Given the description of an element on the screen output the (x, y) to click on. 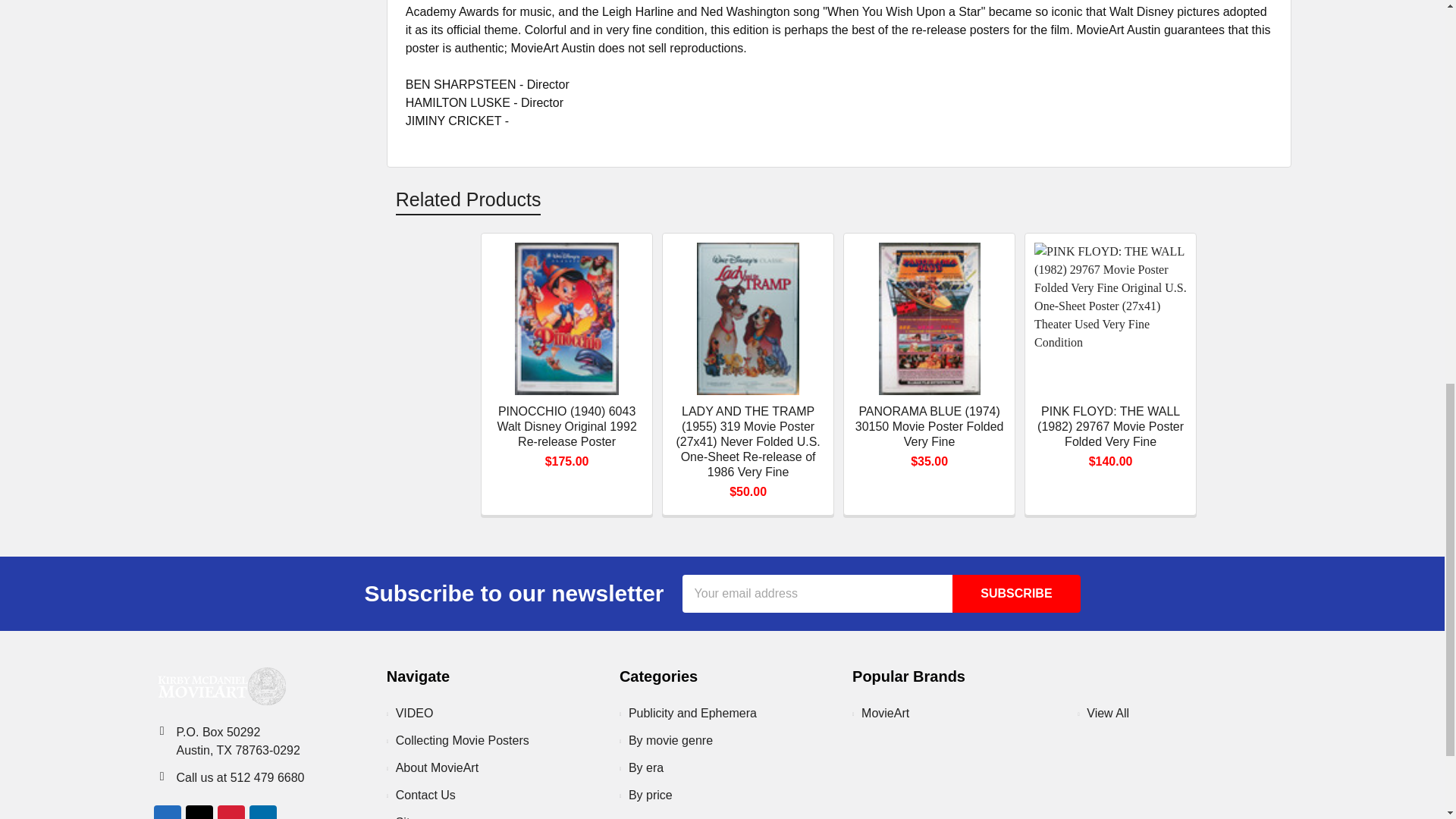
Kirby McDaniel MovieArt (218, 686)
Subscribe (1016, 593)
X (198, 812)
Facebook (166, 812)
